Given the description of an element on the screen output the (x, y) to click on. 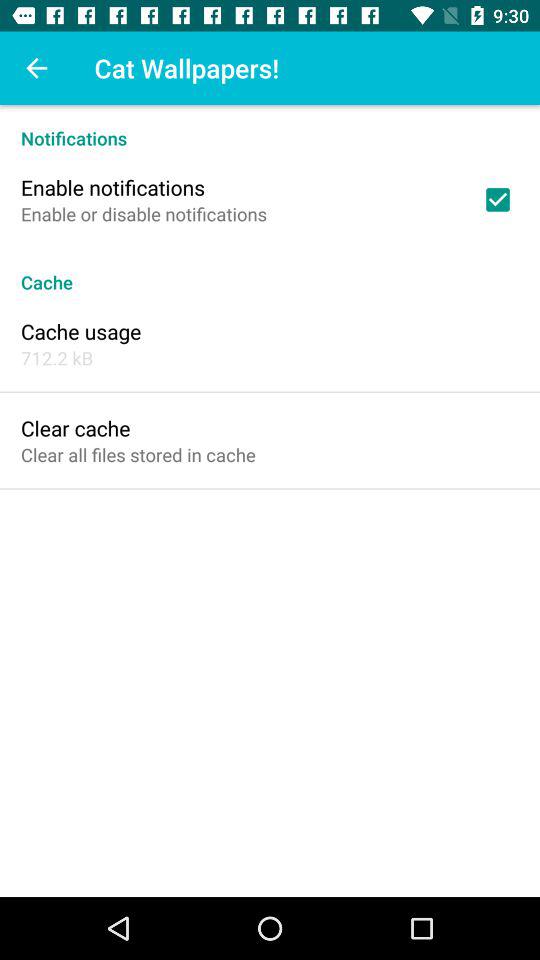
launch item above the 712.2 kb icon (81, 331)
